Given the description of an element on the screen output the (x, y) to click on. 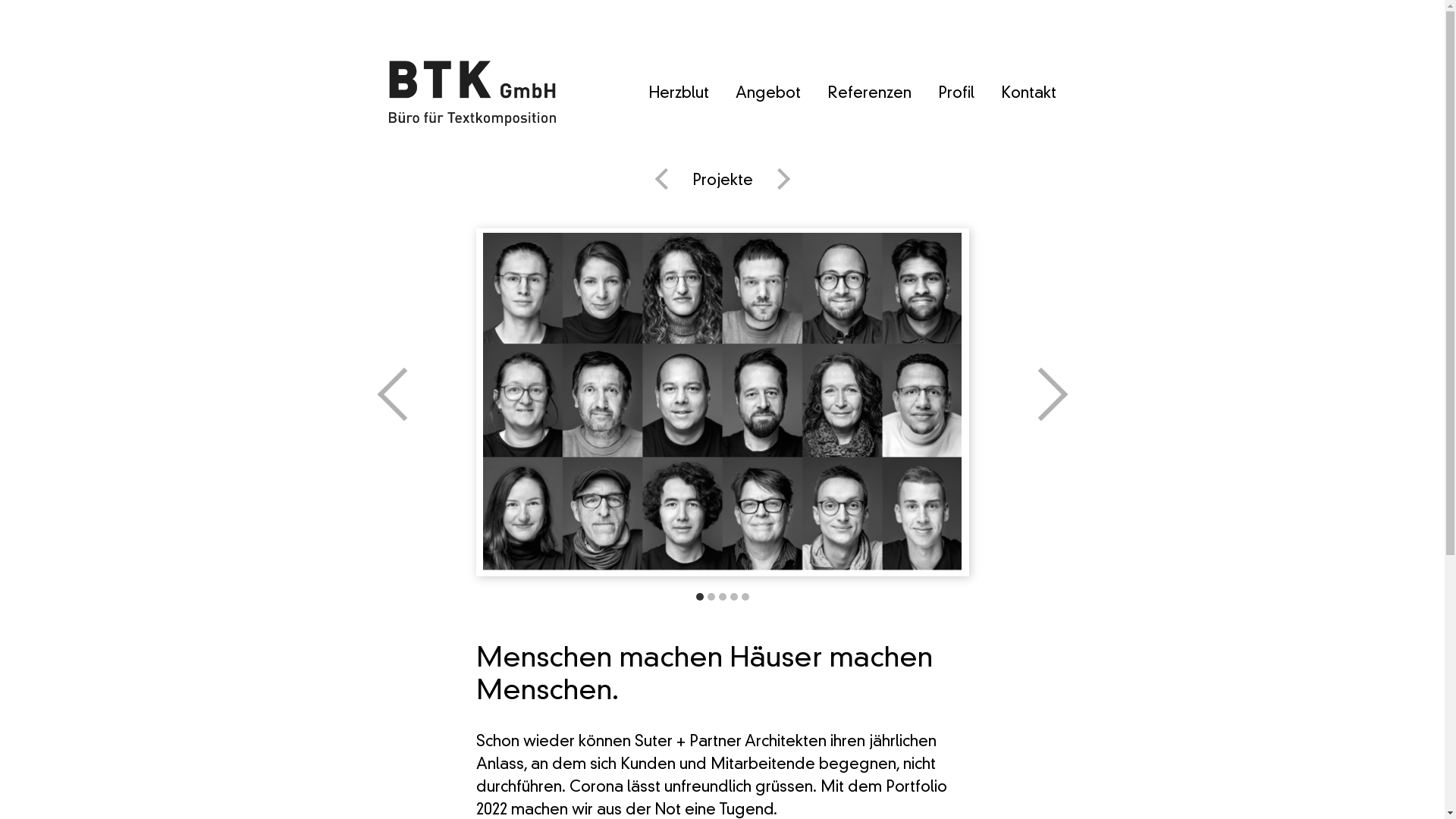
Kontakt Element type: text (1028, 93)
Vorheriges Projekt anschauen Element type: hover (665, 180)
Herzblut Element type: text (677, 93)
Profil Element type: text (955, 93)
Angebot Element type: text (767, 93)
Vorheriges Bild Element type: hover (599, 402)
Referenzen Element type: text (868, 93)
